Given the description of an element on the screen output the (x, y) to click on. 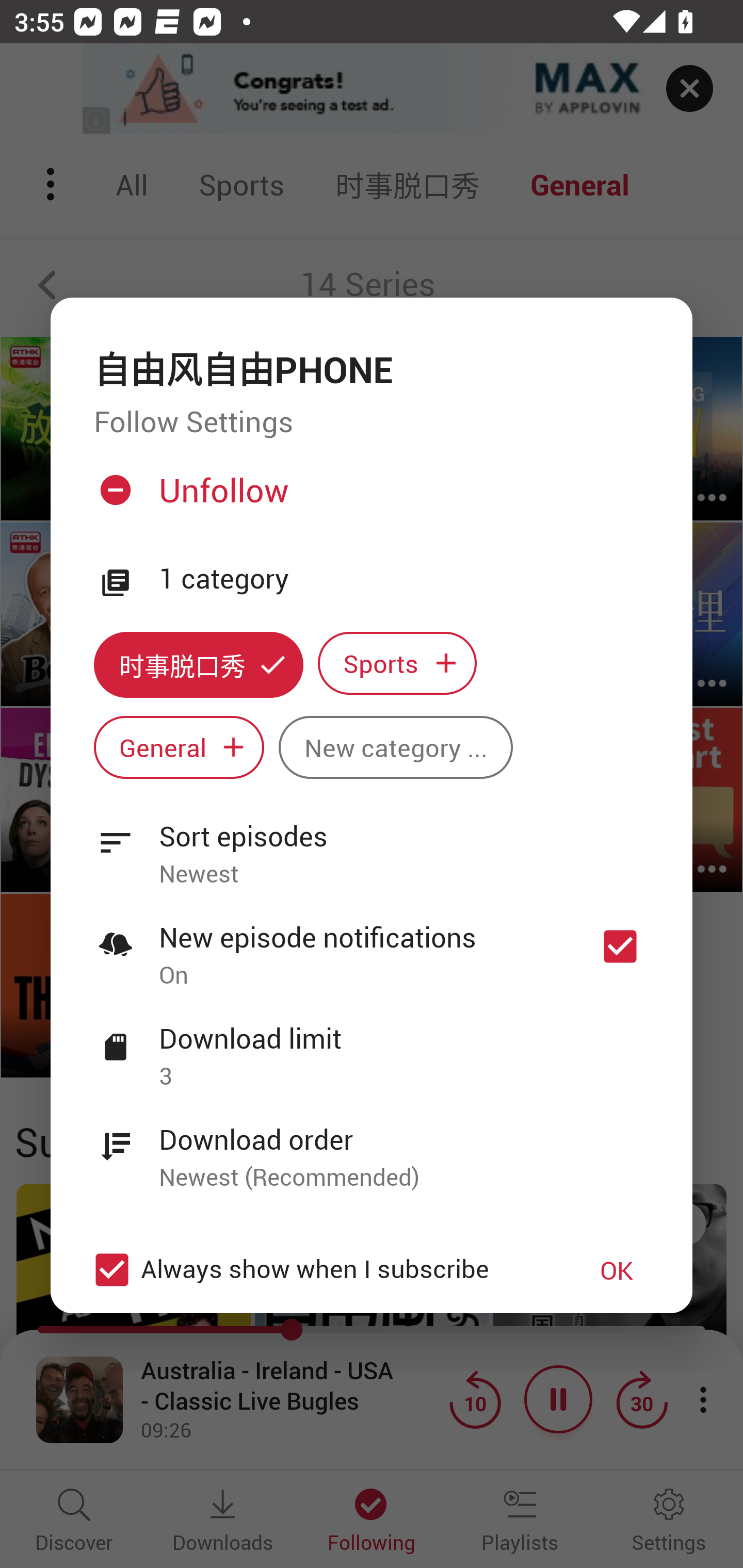
Unfollow (369, 498)
1 category (404, 578)
时事脱口秀 (198, 664)
Sports (397, 662)
General (178, 747)
New category ... (395, 747)
Sort episodes Newest (371, 843)
New episode notifications (620, 946)
Download limit 3 (371, 1045)
Download order Newest (Recommended) (371, 1146)
OK (616, 1269)
Always show when I subscribe (320, 1269)
